Given the description of an element on the screen output the (x, y) to click on. 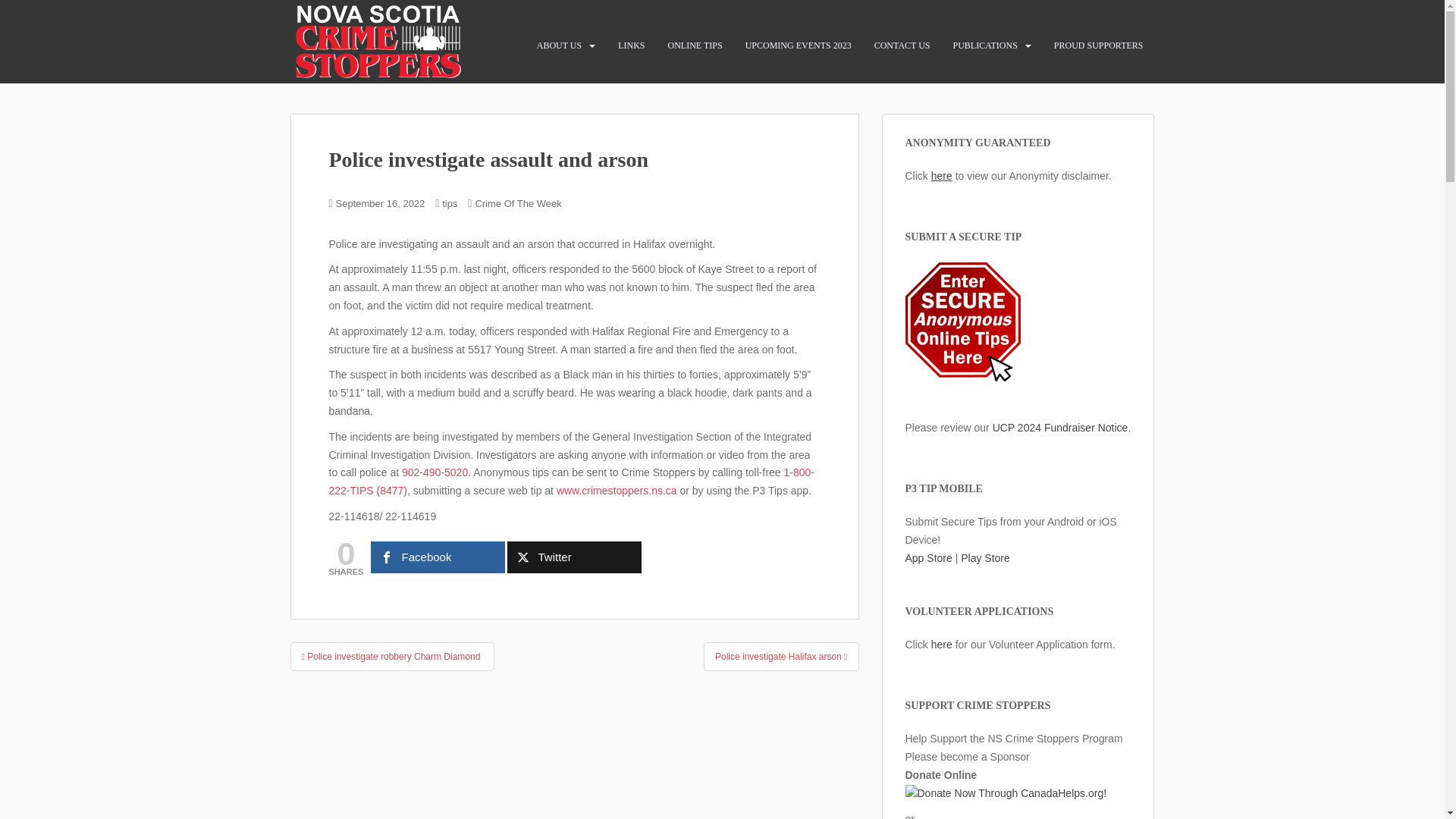
Police investigate Halifax arson (781, 656)
tips (449, 203)
ONLINE TIPS (695, 45)
www.crimestoppers.ns.ca (616, 490)
Facebook (438, 557)
UPCOMING EVENTS 2023 (798, 45)
iTunes (928, 558)
Play Store (985, 558)
Police investigate robbery Charm Diamond  (391, 656)
CONTACT US (902, 45)
App Store (928, 558)
PROUD SUPPORTERS (1098, 45)
Twitter (574, 557)
PUBLICATIONS (984, 45)
here (941, 175)
